Given the description of an element on the screen output the (x, y) to click on. 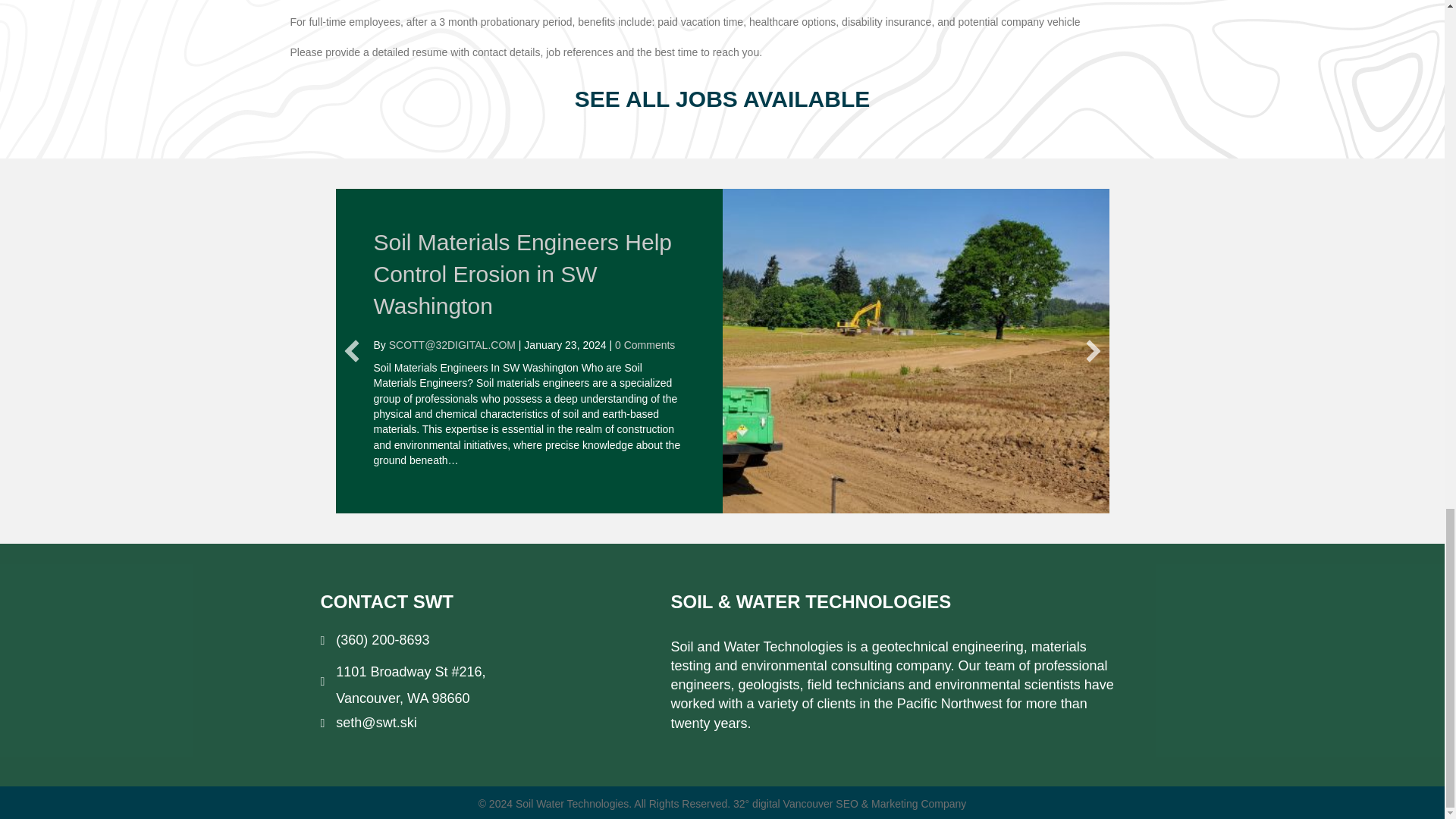
SEE ALL JOBS AVAILABLE (722, 98)
 SEE ALL JOBS AVAILABLE (722, 98)
0 Comments (644, 345)
